Given the description of an element on the screen output the (x, y) to click on. 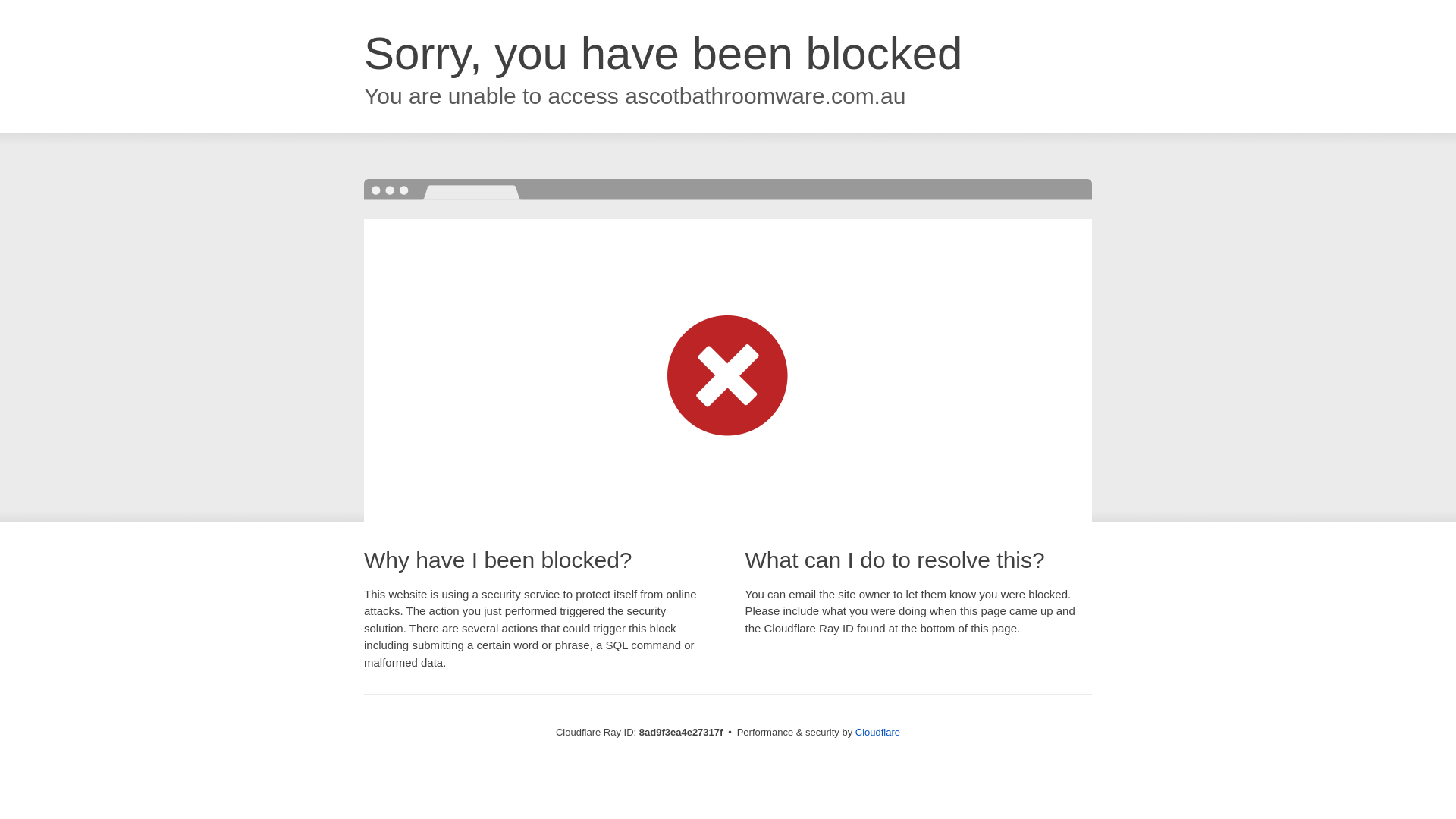
Cloudflare (877, 731)
